Given the description of an element on the screen output the (x, y) to click on. 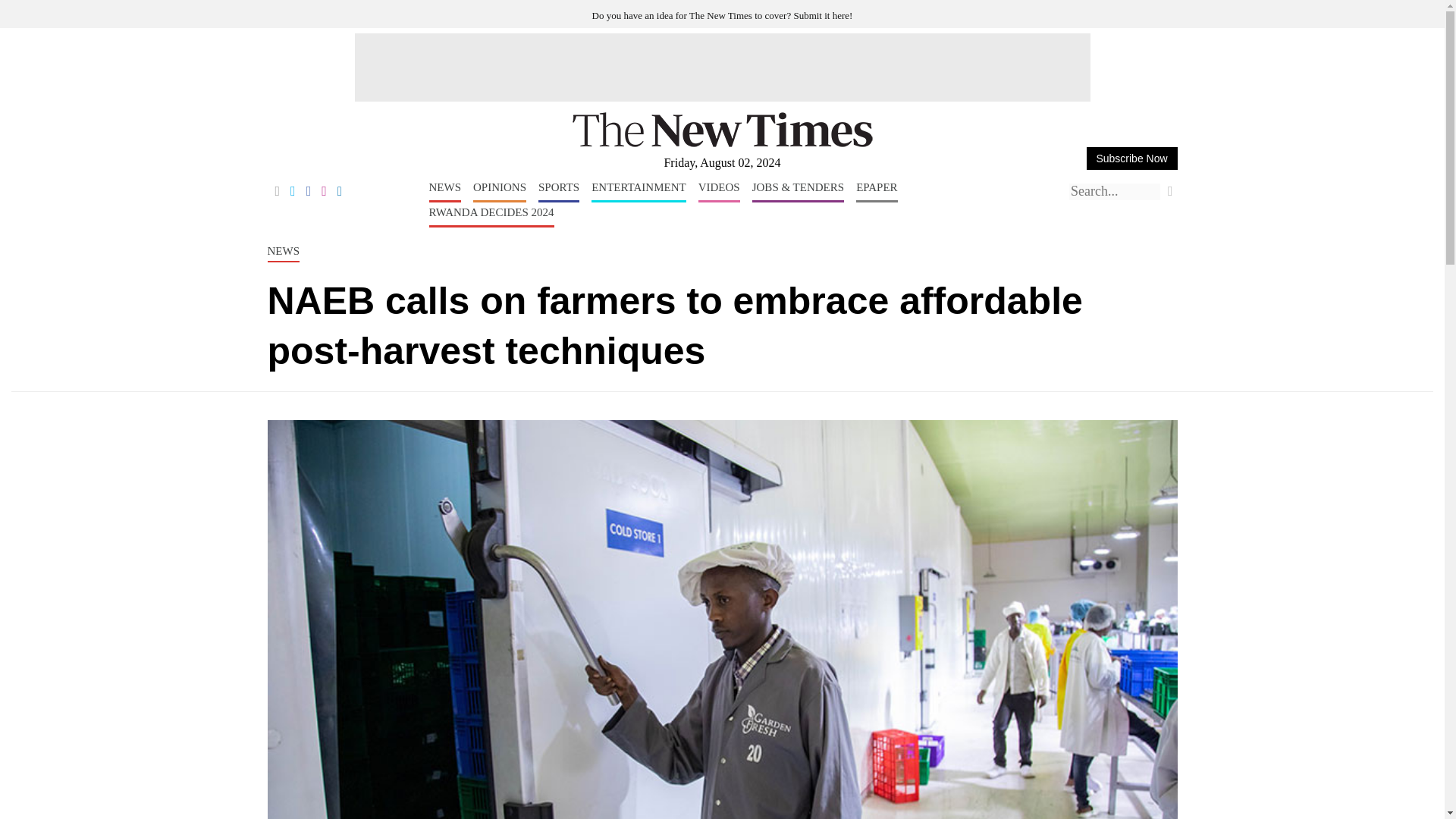
News (445, 191)
NEWS (445, 191)
The New Times (721, 144)
SPORTS (558, 191)
Submit New Ideas (722, 15)
OPINIONS (499, 191)
Subscribe Now (1131, 158)
